Given the description of an element on the screen output the (x, y) to click on. 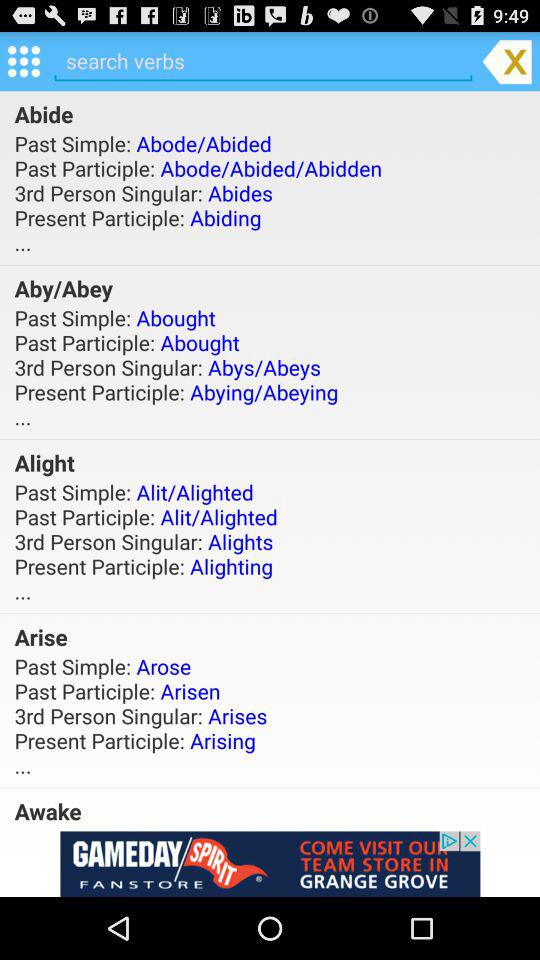
options button (23, 60)
